Given the description of an element on the screen output the (x, y) to click on. 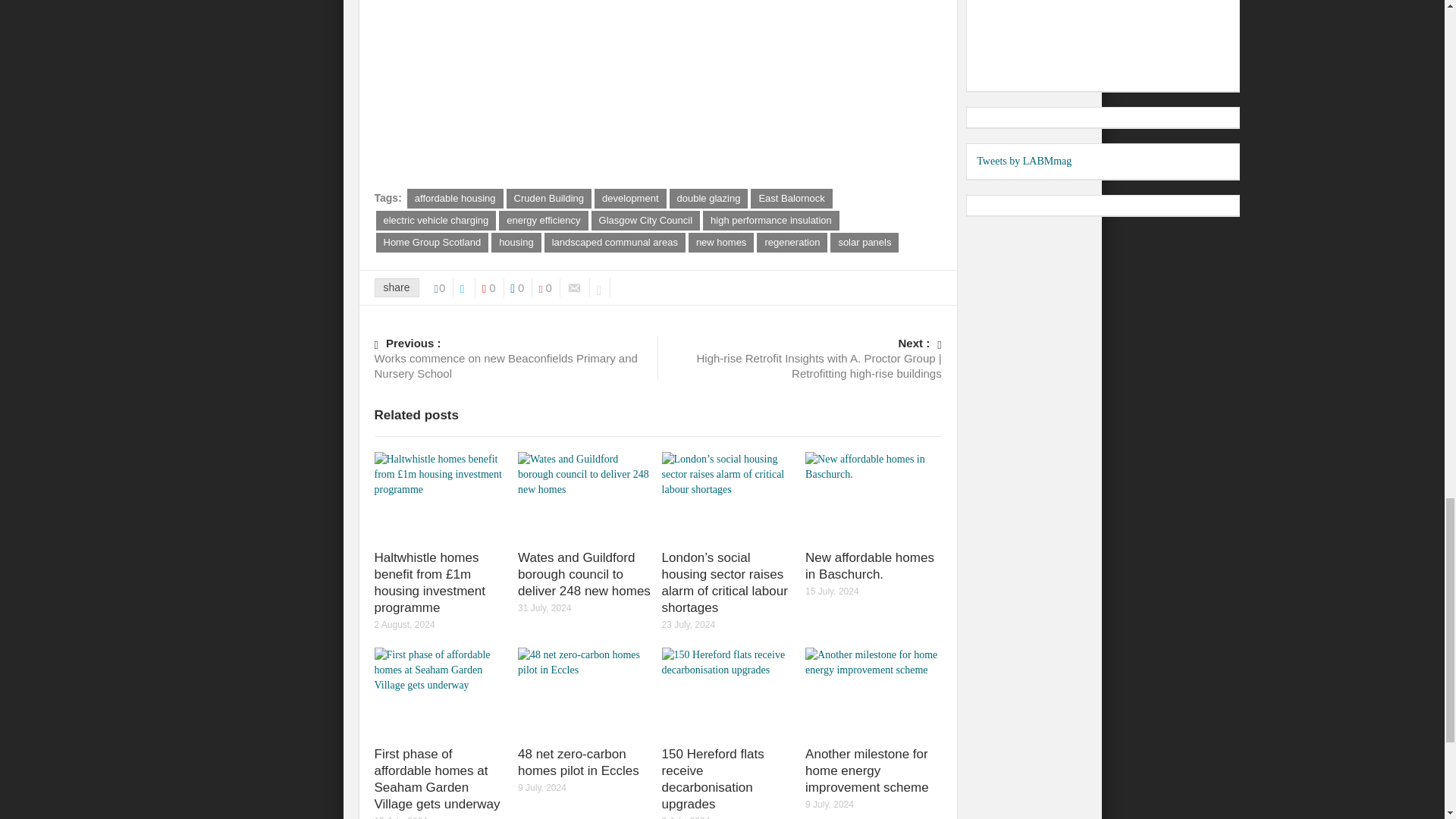
regeneration (792, 242)
high performance insulation (771, 220)
solar panels (863, 242)
affordable housing (455, 198)
development (629, 198)
Cruden Building (549, 198)
energy efficiency (543, 220)
East Balornock (791, 198)
electric vehicle charging (435, 220)
double glazing (708, 198)
new homes (721, 242)
Home Group Scotland (432, 242)
landscaped communal areas (614, 242)
housing (516, 242)
Glasgow City Council (645, 220)
